Given the description of an element on the screen output the (x, y) to click on. 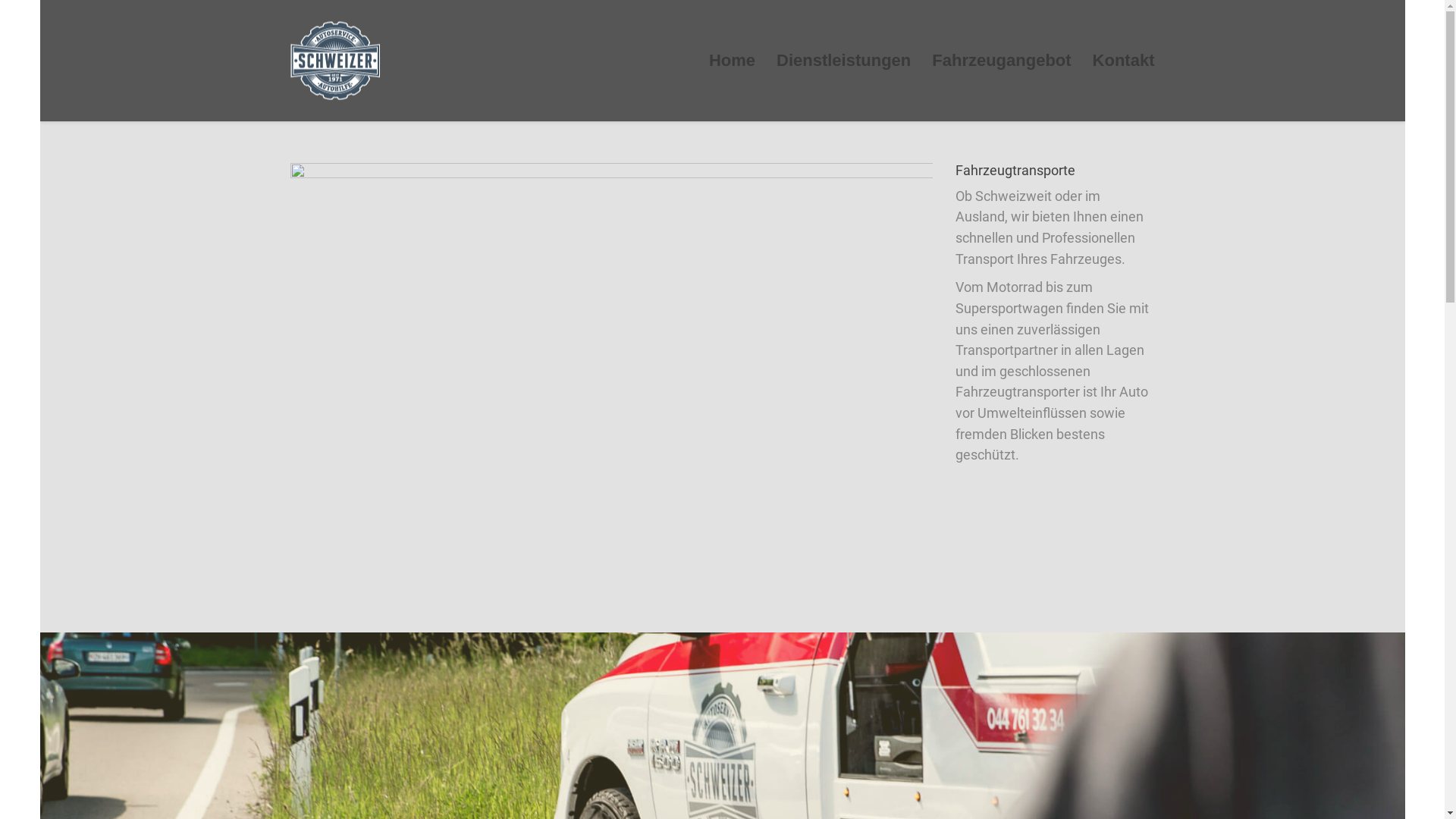
Home Element type: text (731, 60)
Dienstleistungen Element type: text (843, 60)
Fahrzeugangebot Element type: text (1001, 60)
Kontakt Element type: text (1118, 60)
